Given the description of an element on the screen output the (x, y) to click on. 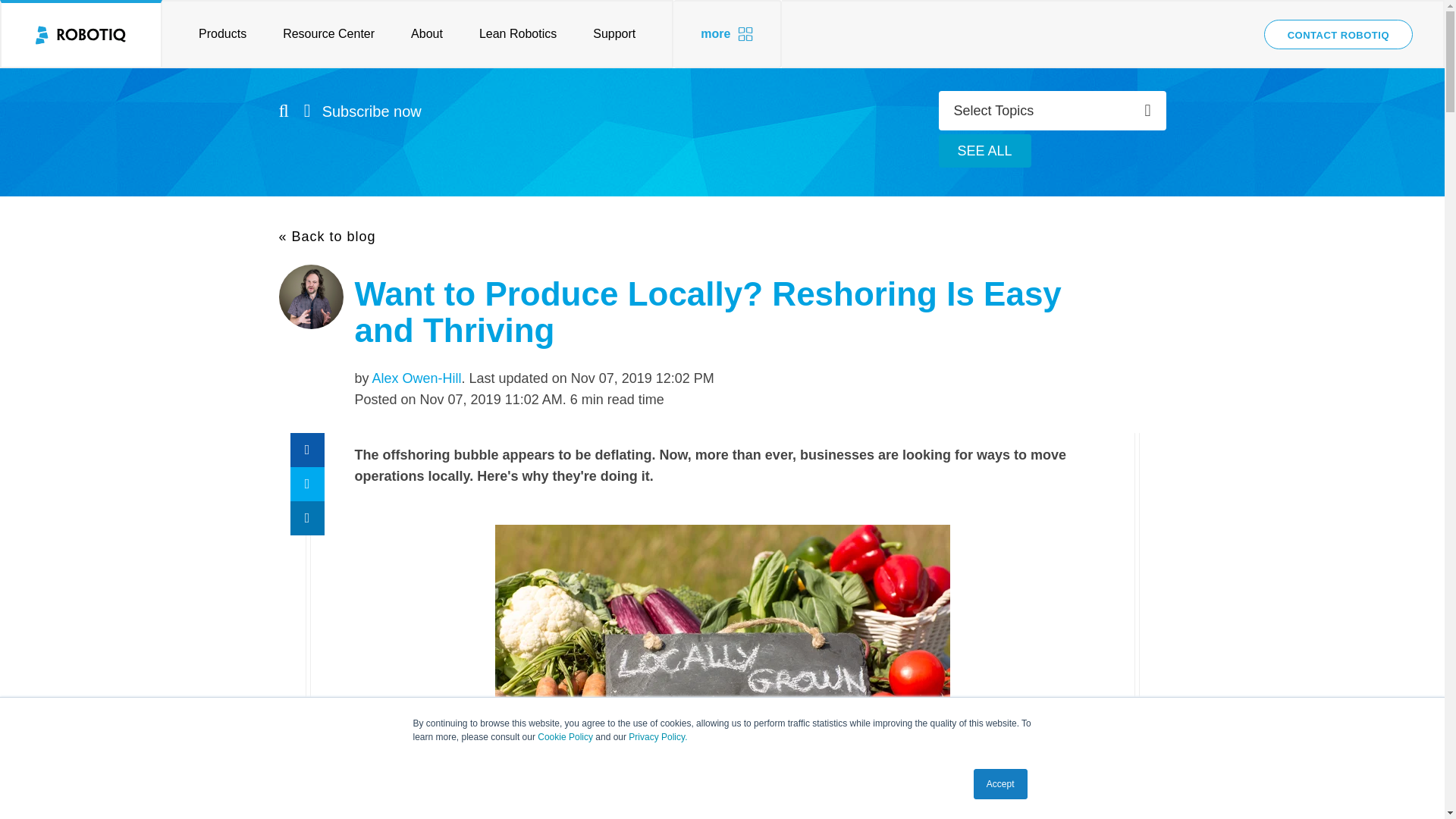
more (726, 33)
CONTACT ROBOTIQ (1337, 34)
About (427, 33)
Share on LinkedIn (306, 518)
Products (212, 33)
Cookie Policy (564, 737)
Accept (1000, 784)
Privacy Policy. (657, 737)
Tweet (306, 483)
Lean Robotics (518, 33)
Resource Center (328, 33)
Share on Facebook (306, 449)
Support (623, 33)
